Given the description of an element on the screen output the (x, y) to click on. 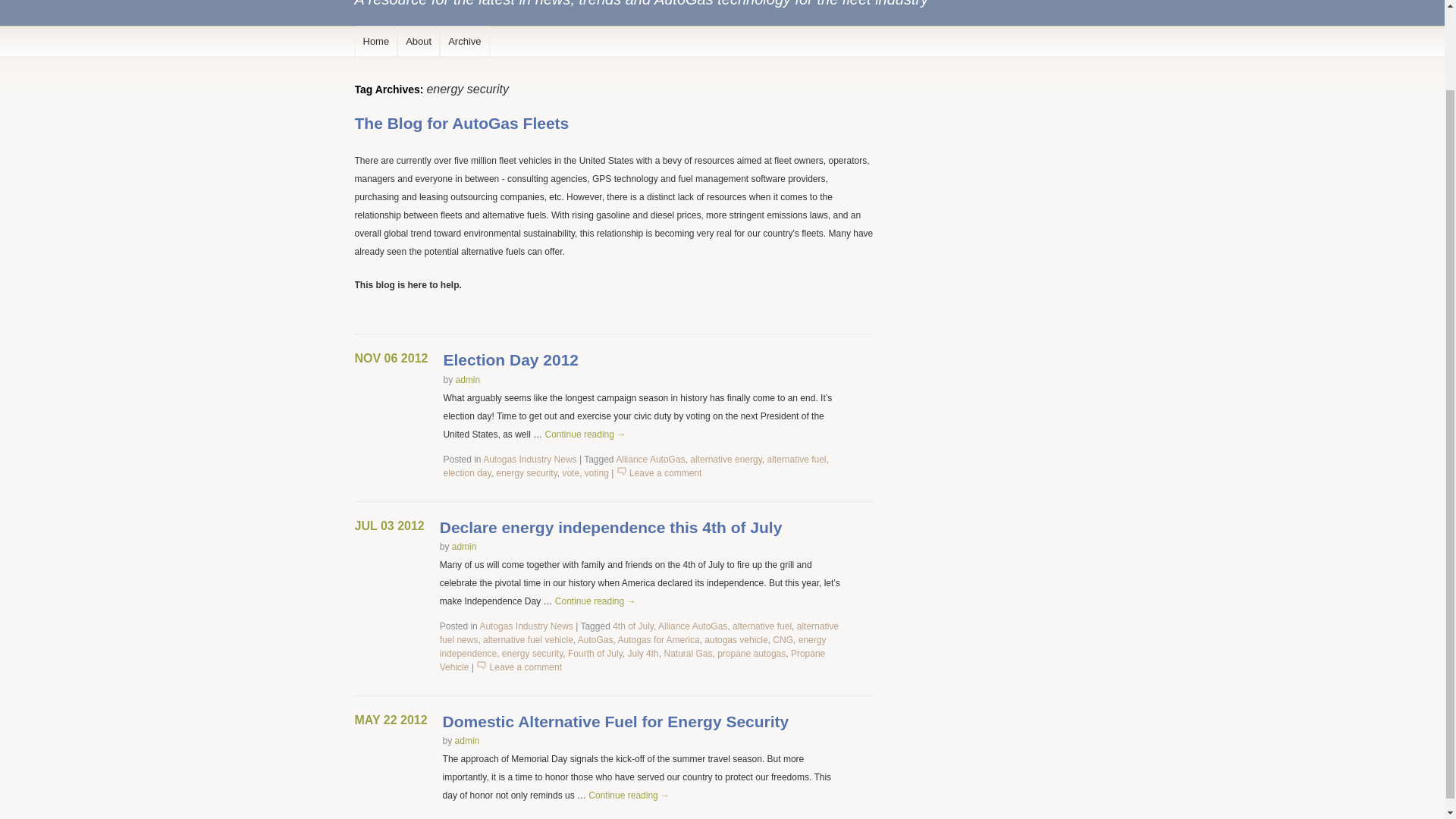
Autogas Industry News (525, 625)
About (418, 41)
Comment on Declare energy independence this 4th of July (525, 666)
Autogas Industry News (529, 459)
View all posts by admin (464, 546)
alternative fuel (762, 625)
10:03 am (391, 719)
Archive (464, 41)
Permalink to Domestic Alternative Fuel for Energy Security (615, 721)
energy independence (633, 646)
